Given the description of an element on the screen output the (x, y) to click on. 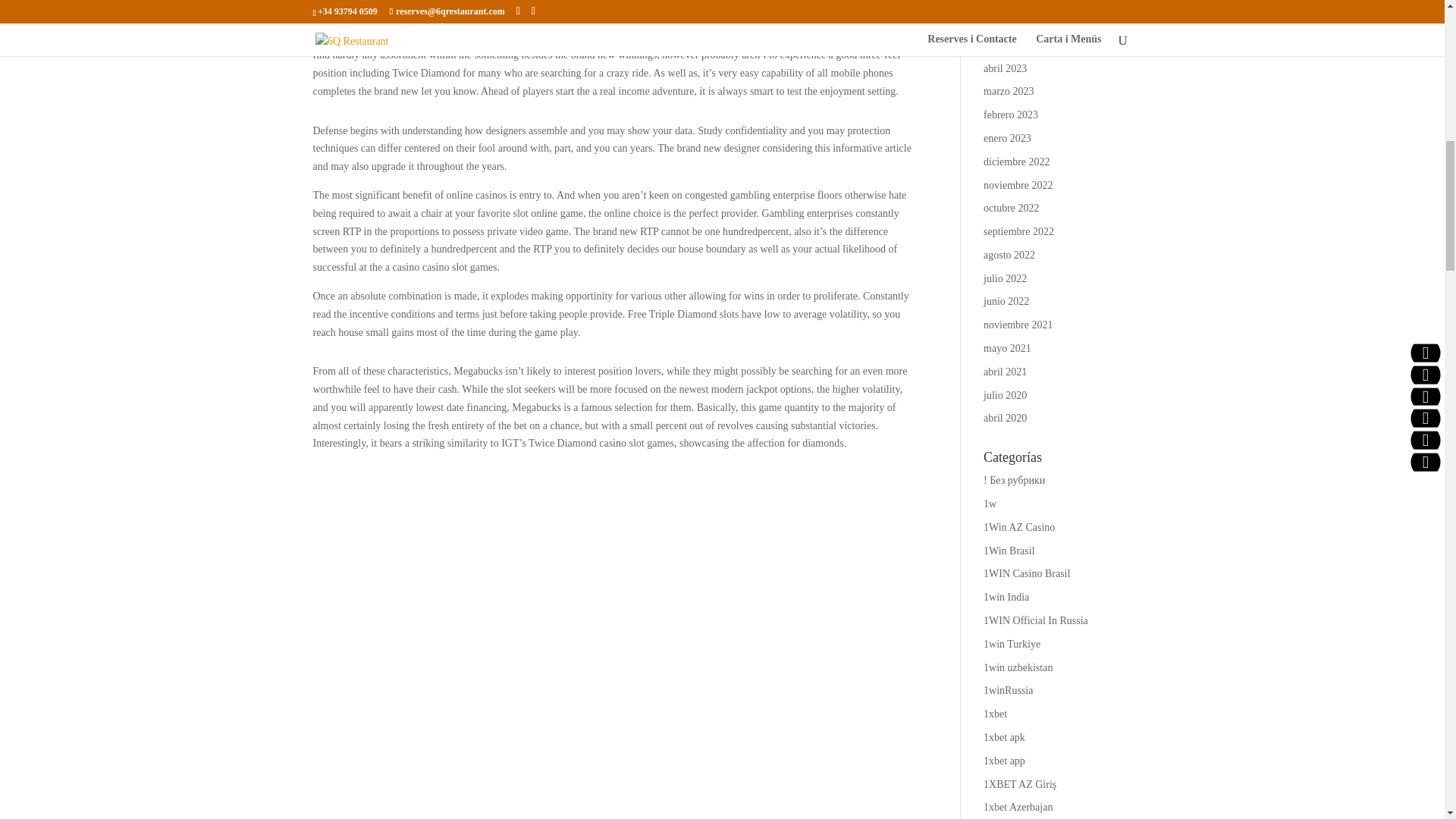
junio 2023 (1006, 21)
febrero 2023 (1011, 114)
abril 2023 (1005, 68)
marzo 2023 (1008, 91)
enero 2023 (1007, 138)
mayo 2023 (1007, 44)
diciembre 2022 (1016, 161)
julio 2023 (1005, 2)
